Given the description of an element on the screen output the (x, y) to click on. 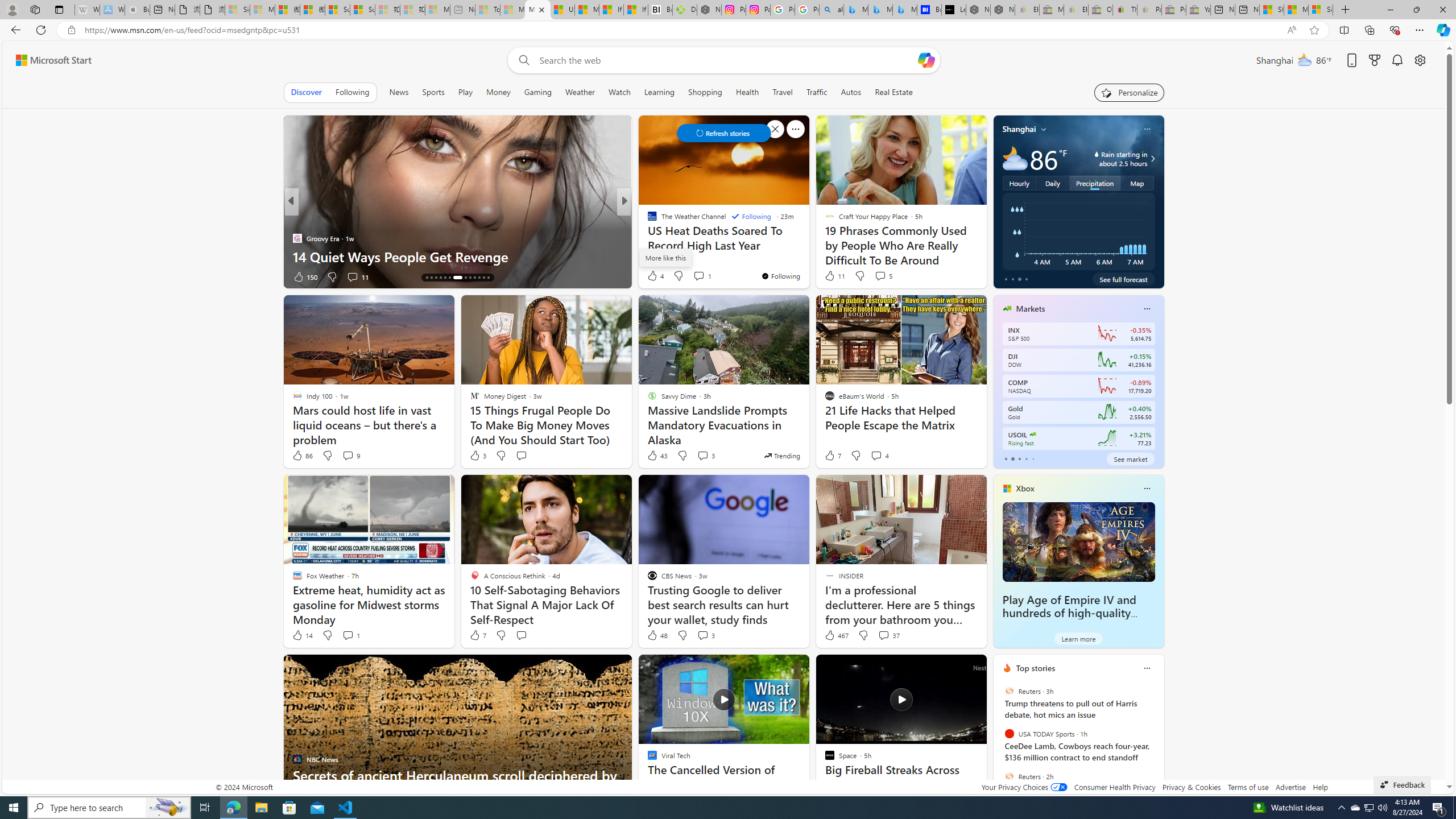
Nordace - Nordace Edin Collection (708, 9)
New tab (1246, 9)
Microsoft Services Agreement - Sleeping (261, 9)
US Heat Deaths Soared To Record High Last Year (562, 9)
News (398, 92)
Play (465, 92)
Payments Terms of Use | eBay.com - Sleeping (1149, 9)
Privacy & Cookies (1191, 786)
AutomationID: tab-21 (465, 277)
Refresh (40, 29)
Top Stories - MSN - Sleeping (487, 9)
View comments 4 Comment (879, 455)
86 Like (301, 455)
Mostly cloudy (1014, 158)
Microsoft account | Account Checkup - Sleeping (437, 9)
